Given the description of an element on the screen output the (x, y) to click on. 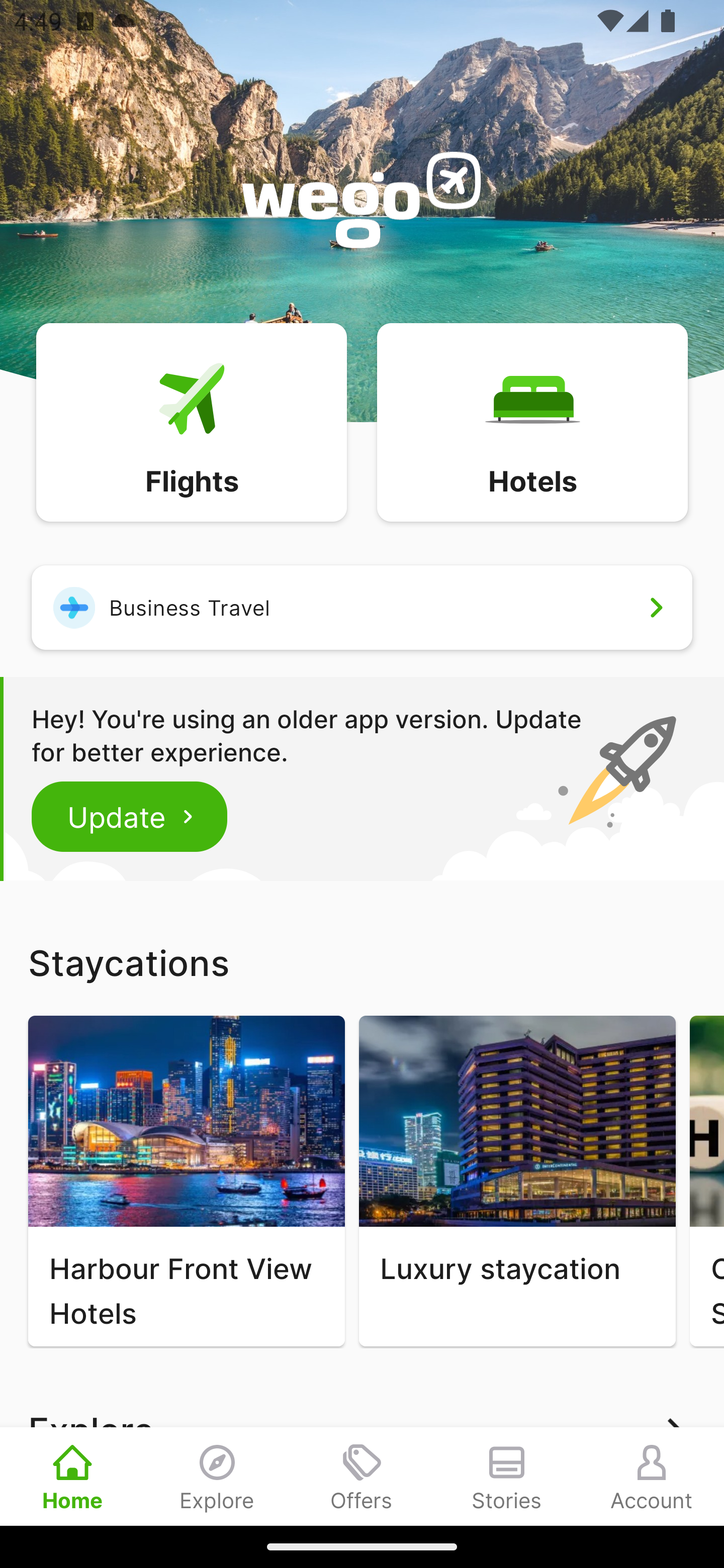
Flights (191, 420)
Hotels (532, 420)
Business Travel (361, 607)
Update (129, 815)
Staycations (362, 962)
Harbour Front View Hotels (186, 1181)
Luxury staycation (517, 1181)
Explore (216, 1475)
Offers (361, 1475)
Stories (506, 1475)
Account (651, 1475)
